Given the description of an element on the screen output the (x, y) to click on. 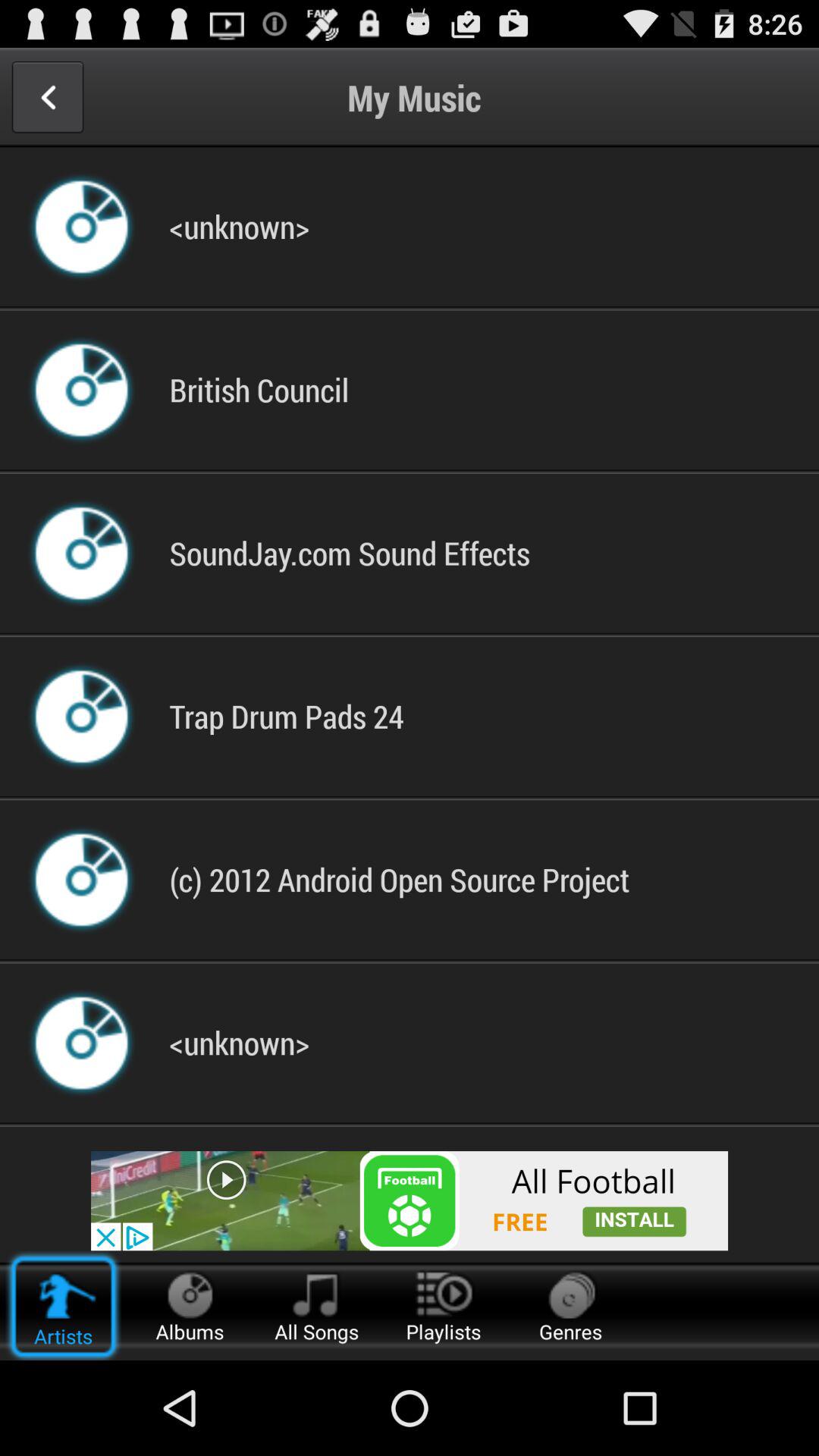
go back (47, 97)
